Given the description of an element on the screen output the (x, y) to click on. 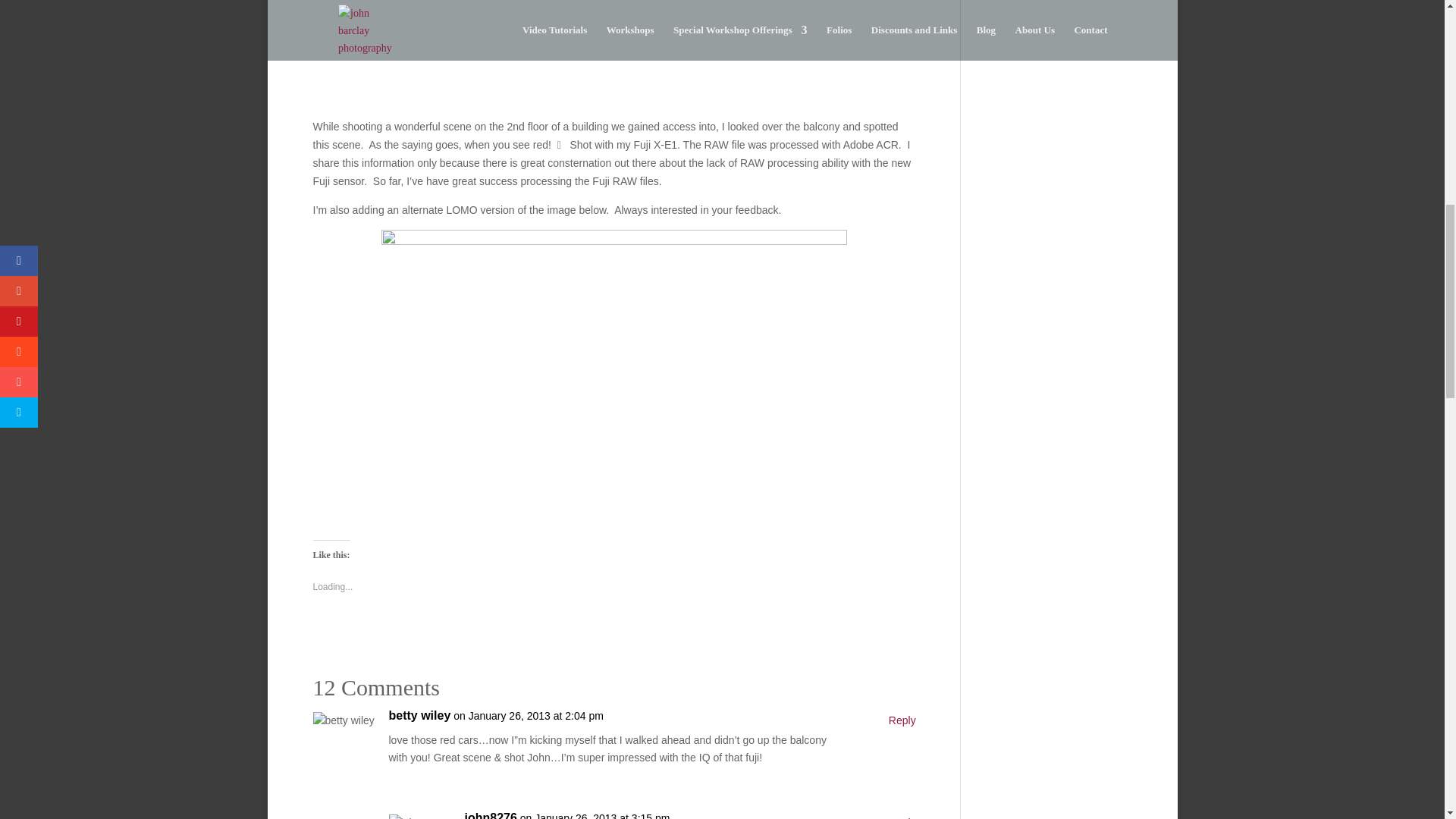
betty wiley (418, 715)
Reply (901, 720)
Reply (901, 816)
